Given the description of an element on the screen output the (x, y) to click on. 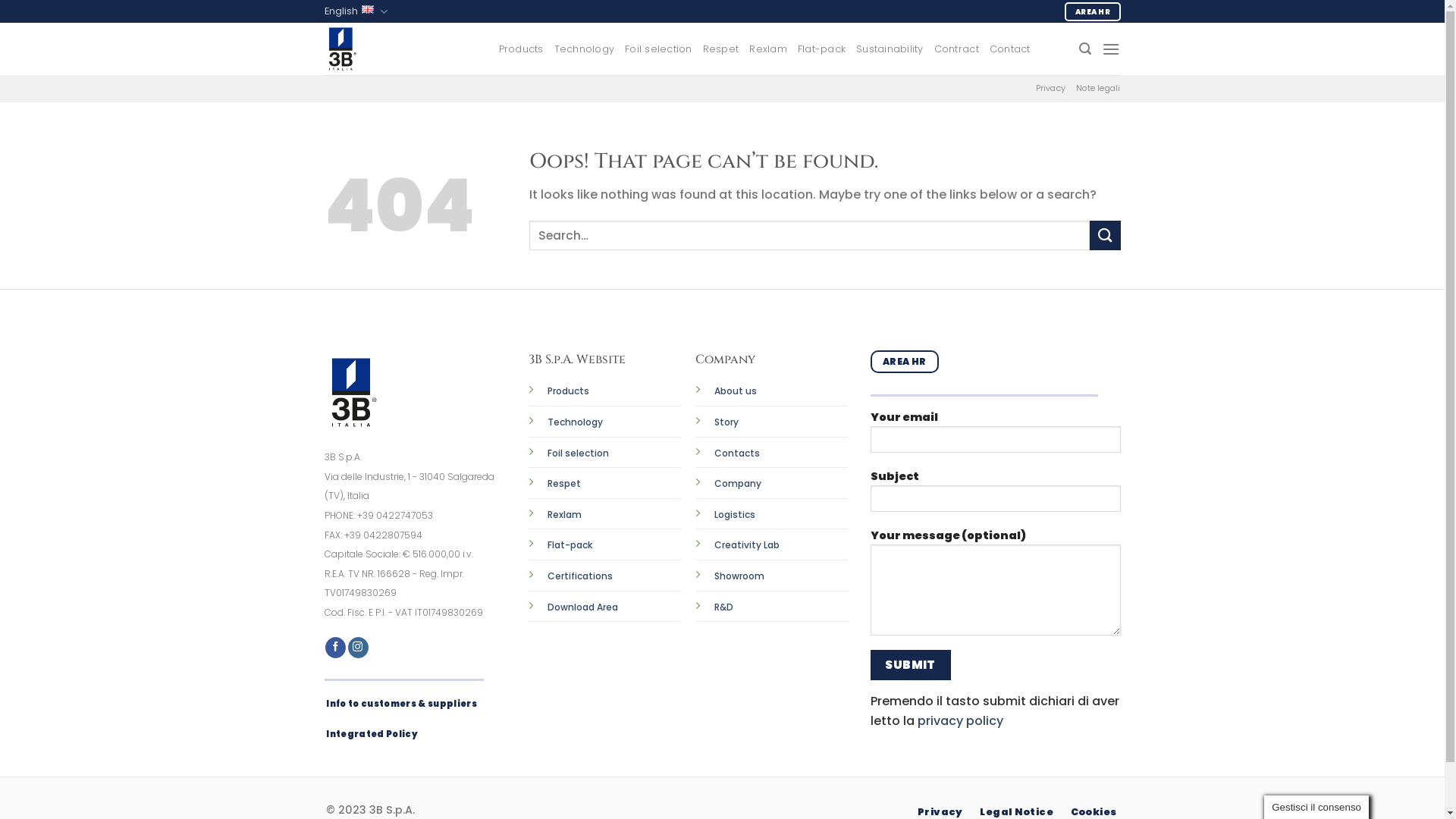
Story Element type: text (726, 421)
Respet Element type: text (563, 482)
R&D Element type: text (723, 606)
Follow on Facebook Element type: hover (335, 647)
Flat-pack Element type: text (821, 48)
Follow on Instagram Element type: hover (358, 647)
Flat-pack Element type: text (569, 544)
Note legali Element type: text (1098, 88)
Rifiuta Element type: text (1350, 793)
Rexlam Element type: text (564, 514)
English Element type: text (355, 11)
Respet Element type: text (720, 48)
Contract Element type: text (956, 48)
Rexlam Element type: text (768, 48)
Creativity Lab Element type: text (746, 544)
Contacts Element type: text (736, 452)
Showroom Element type: text (739, 575)
Certifications Element type: text (579, 574)
Accetta Element type: text (1402, 795)
Technology Element type: text (574, 421)
Integrated Policy Element type: text (372, 734)
Foil selection Element type: text (577, 452)
privacy policy Element type: text (960, 720)
Technology Element type: text (584, 48)
Products Element type: text (568, 390)
Contact Element type: text (1009, 48)
AREA HR Element type: text (904, 361)
Products Element type: text (520, 48)
Foil selection Element type: text (658, 48)
AREA HR Element type: text (1092, 11)
Logistics Element type: text (734, 514)
Sustainability Element type: text (889, 48)
About us Element type: text (735, 390)
Privacy Element type: text (1050, 88)
Info to customers & suppliers Element type: text (401, 704)
Download Area Element type: text (582, 606)
Submit Element type: text (910, 664)
Company Element type: text (737, 482)
